Given the description of an element on the screen output the (x, y) to click on. 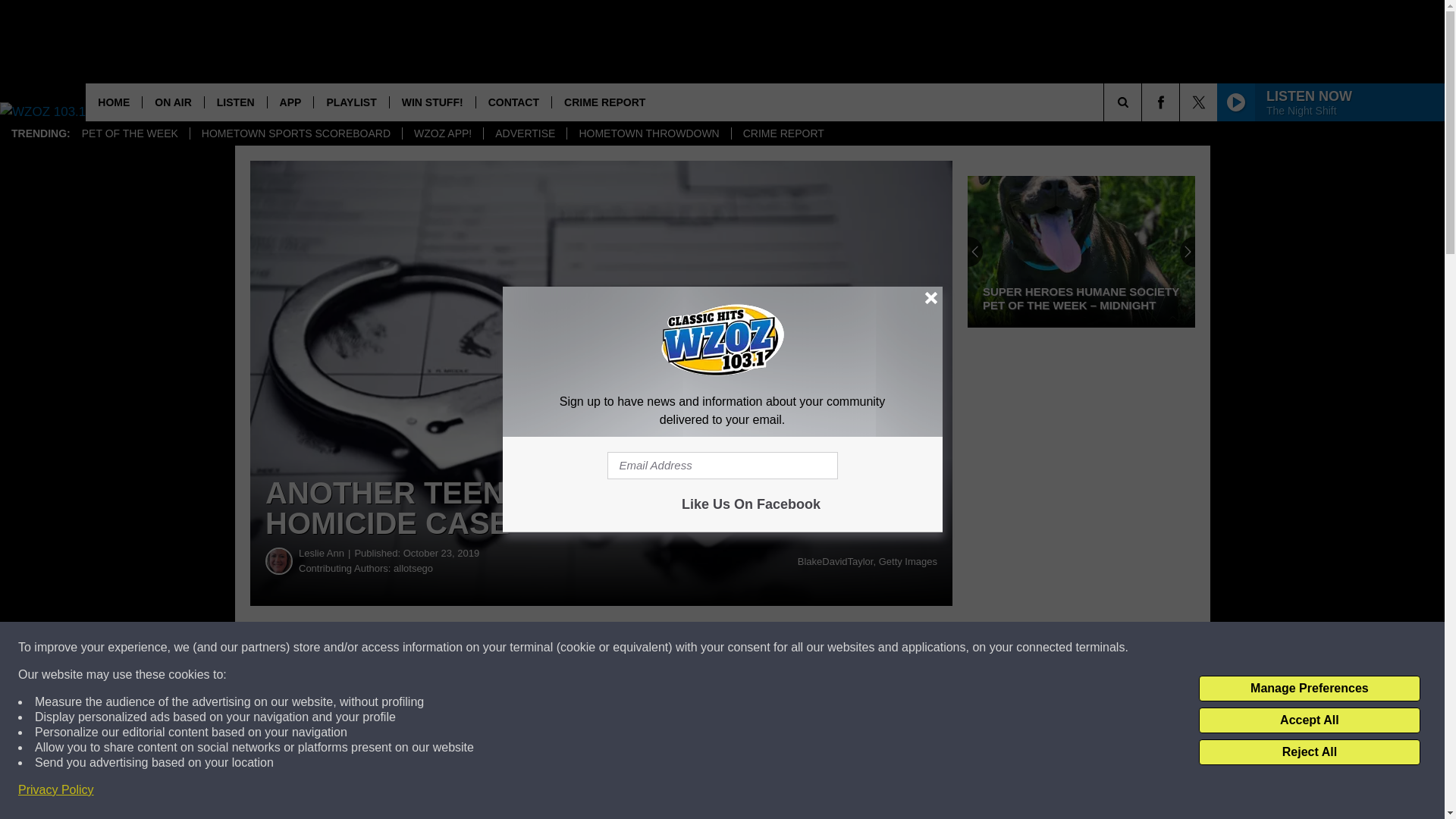
HOMETOWN SPORTS SCOREBOARD (295, 133)
HOMETOWN THROWDOWN (648, 133)
Share on Facebook (460, 647)
SEARCH (1144, 102)
HOME (113, 102)
PET OF THE WEEK (129, 133)
ADVERTISE (524, 133)
Manage Preferences (1309, 688)
CRIME REPORT (604, 102)
Accept All (1309, 720)
Email Address (722, 465)
WIN STUFF! (432, 102)
CONTACT (513, 102)
ON AIR (172, 102)
LISTEN (234, 102)
